Given the description of an element on the screen output the (x, y) to click on. 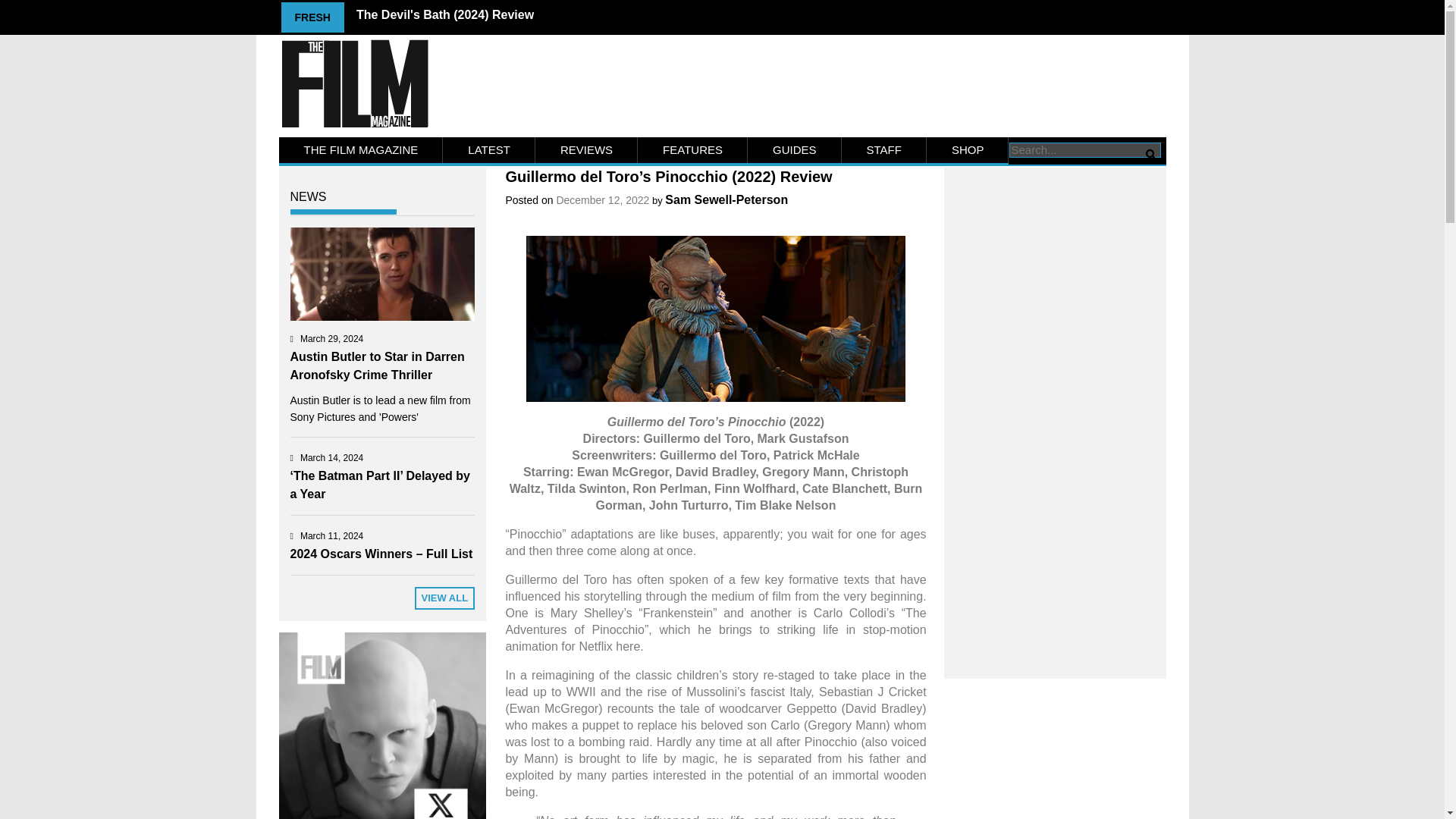
REVIEWS (586, 149)
FEATURES (692, 149)
STAFF (883, 149)
THE FILM MAGAZINE (361, 149)
GUIDES (794, 149)
LATEST (488, 149)
SHOP (967, 149)
